Given the description of an element on the screen output the (x, y) to click on. 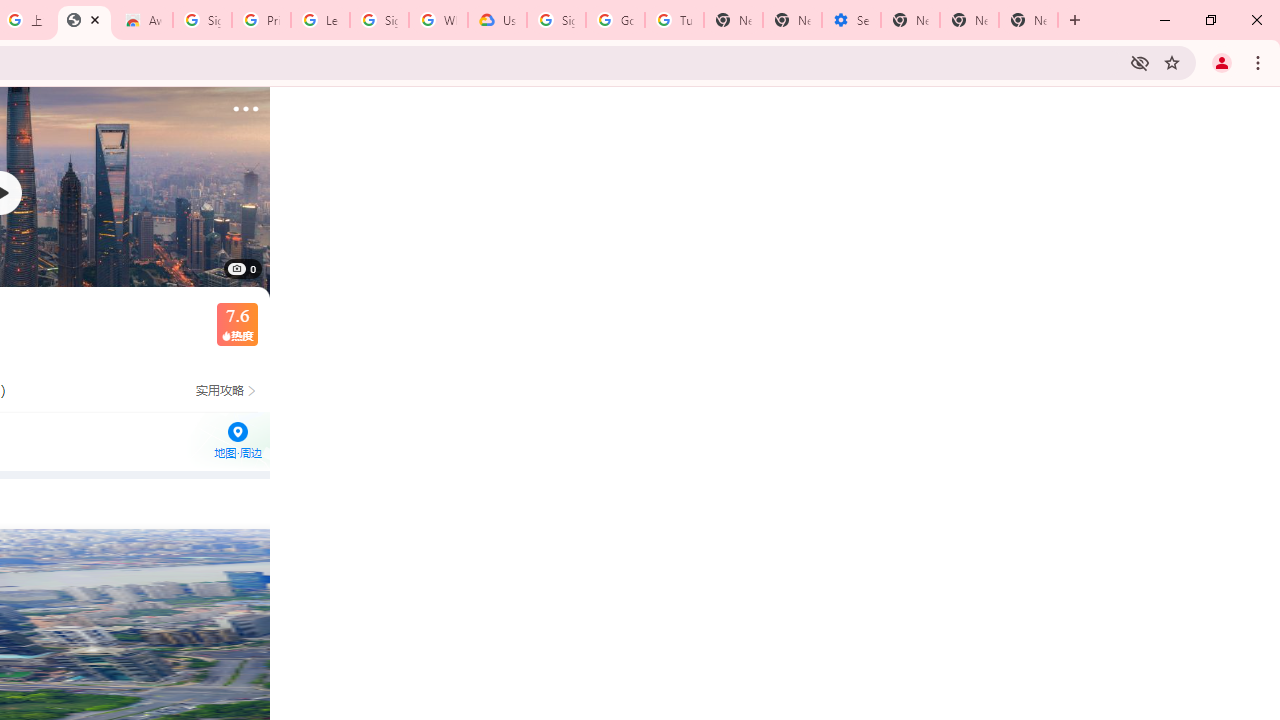
Who are Google's partners? - Privacy and conditions - Google (438, 20)
Settings - Addresses and more (850, 20)
Sign in - Google Accounts (379, 20)
